Given the description of an element on the screen output the (x, y) to click on. 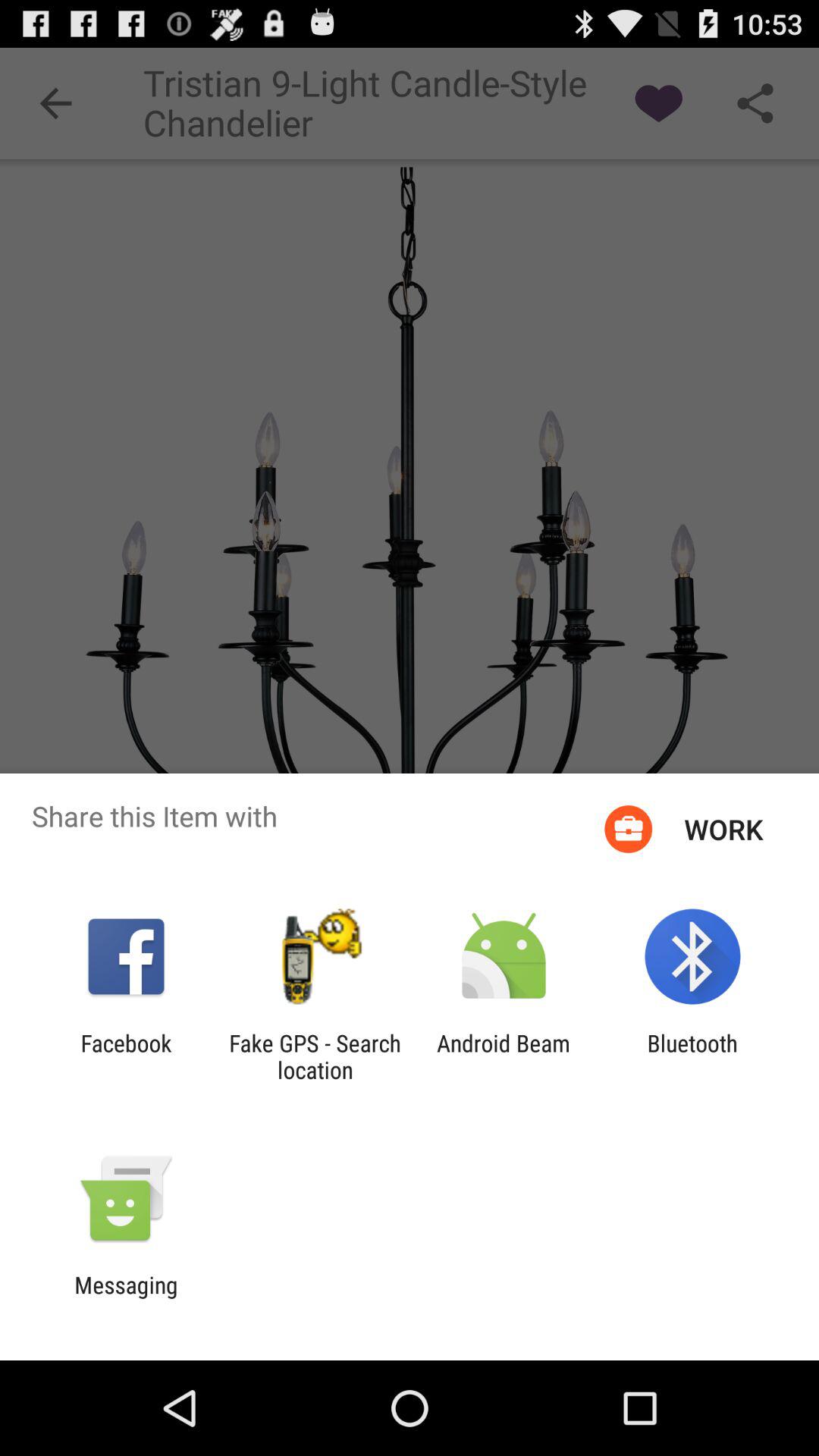
turn off the item next to the fake gps search (125, 1056)
